Given the description of an element on the screen output the (x, y) to click on. 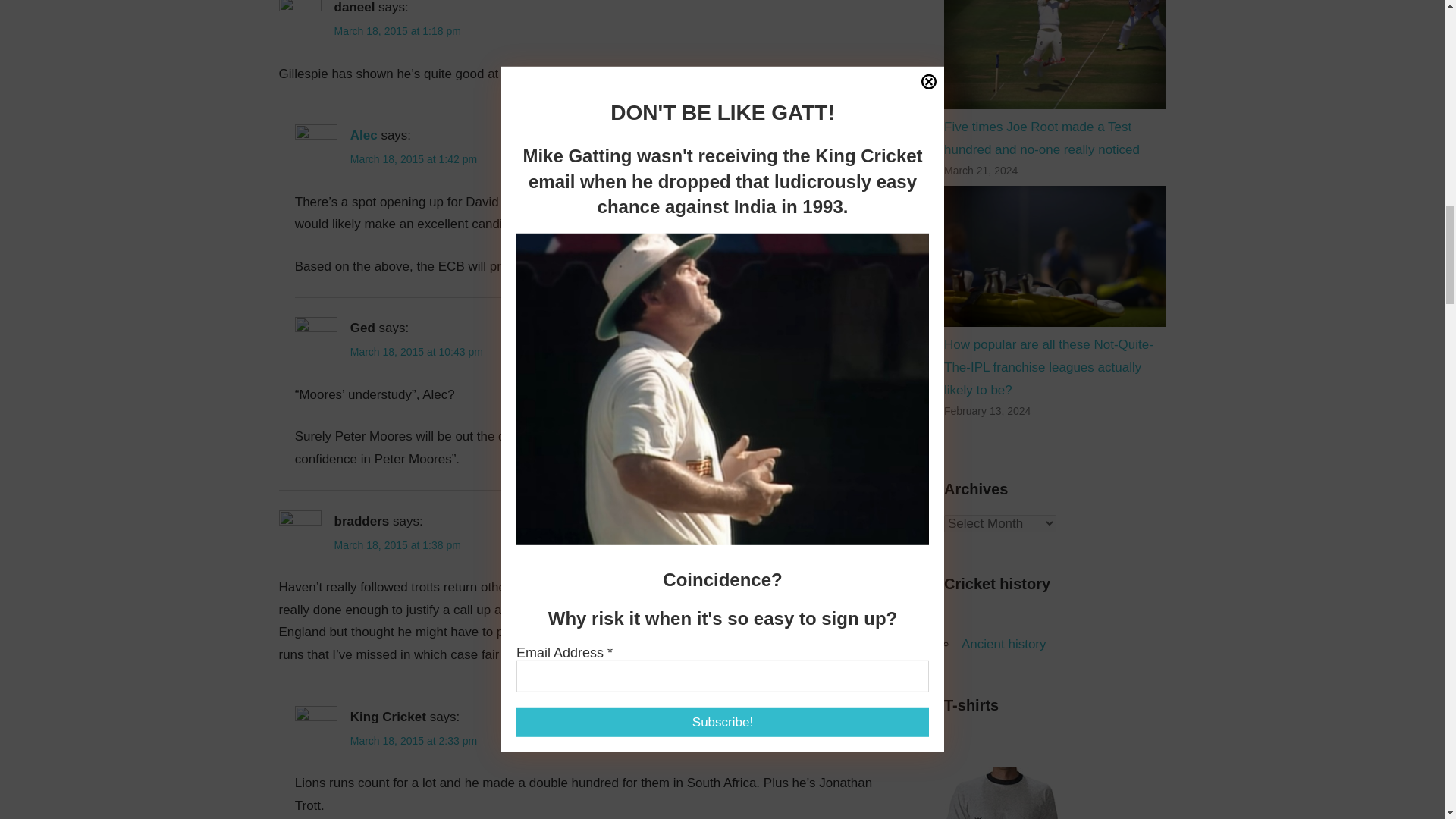
March 18, 2015 at 1:18 pm (396, 30)
Alec (363, 134)
